Given the description of an element on the screen output the (x, y) to click on. 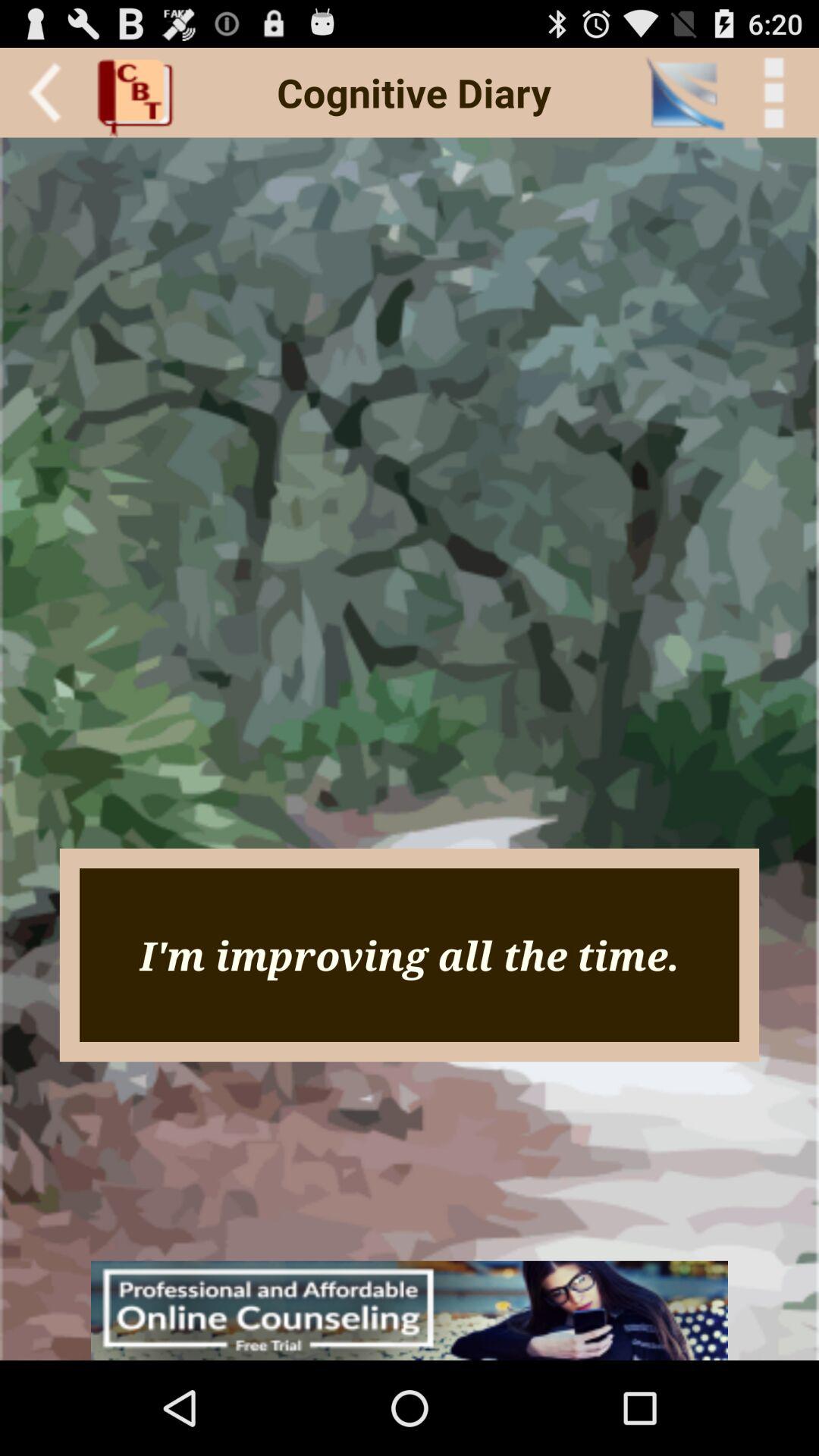
choose app next to the < back item (684, 92)
